Given the description of an element on the screen output the (x, y) to click on. 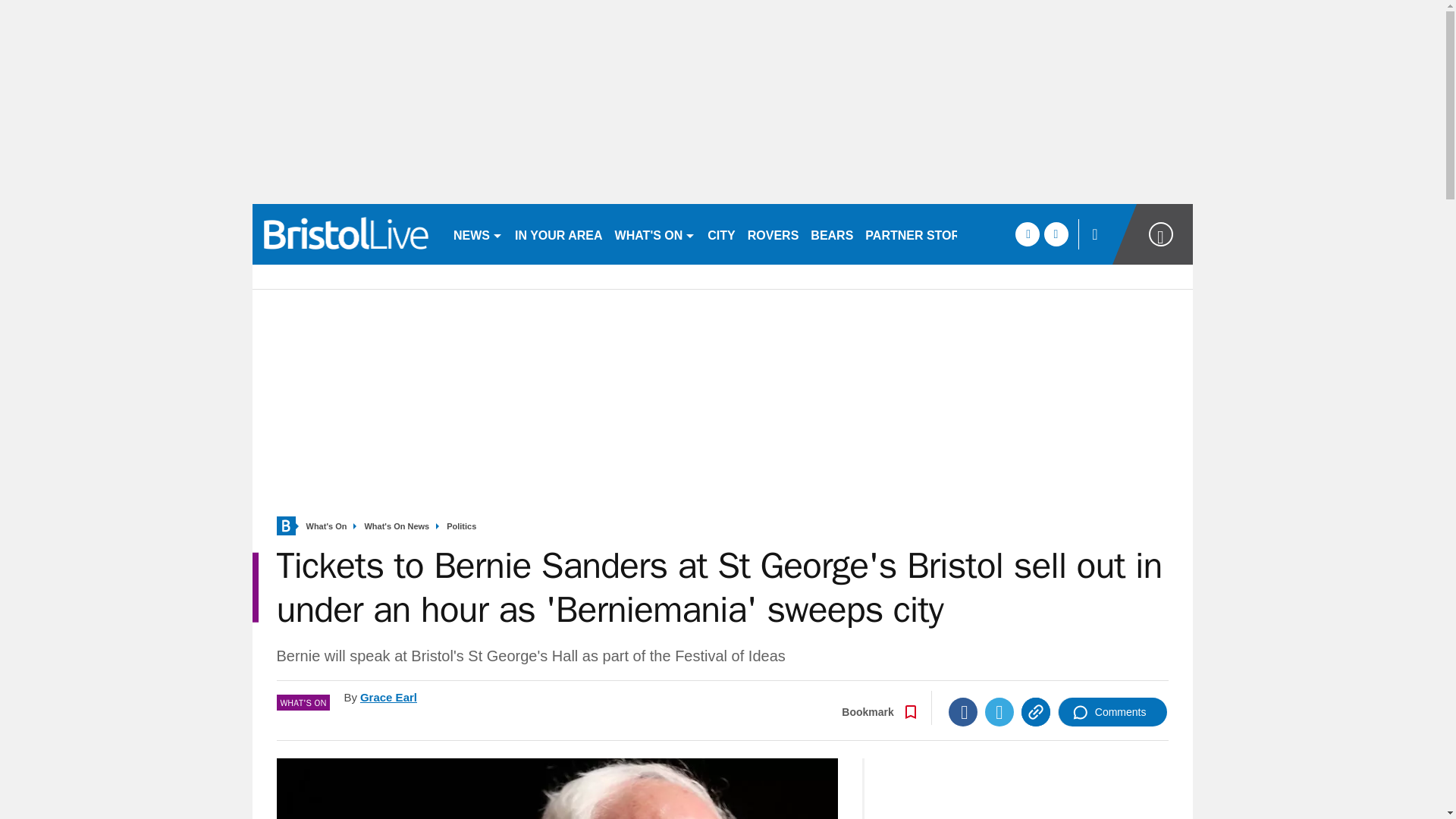
Comments (1112, 711)
Facebook (962, 711)
ROVERS (773, 233)
WHAT'S ON (654, 233)
facebook (1026, 233)
BEARS (832, 233)
bristolpost (345, 233)
IN YOUR AREA (558, 233)
PARTNER STORIES (922, 233)
Twitter (999, 711)
